Given the description of an element on the screen output the (x, y) to click on. 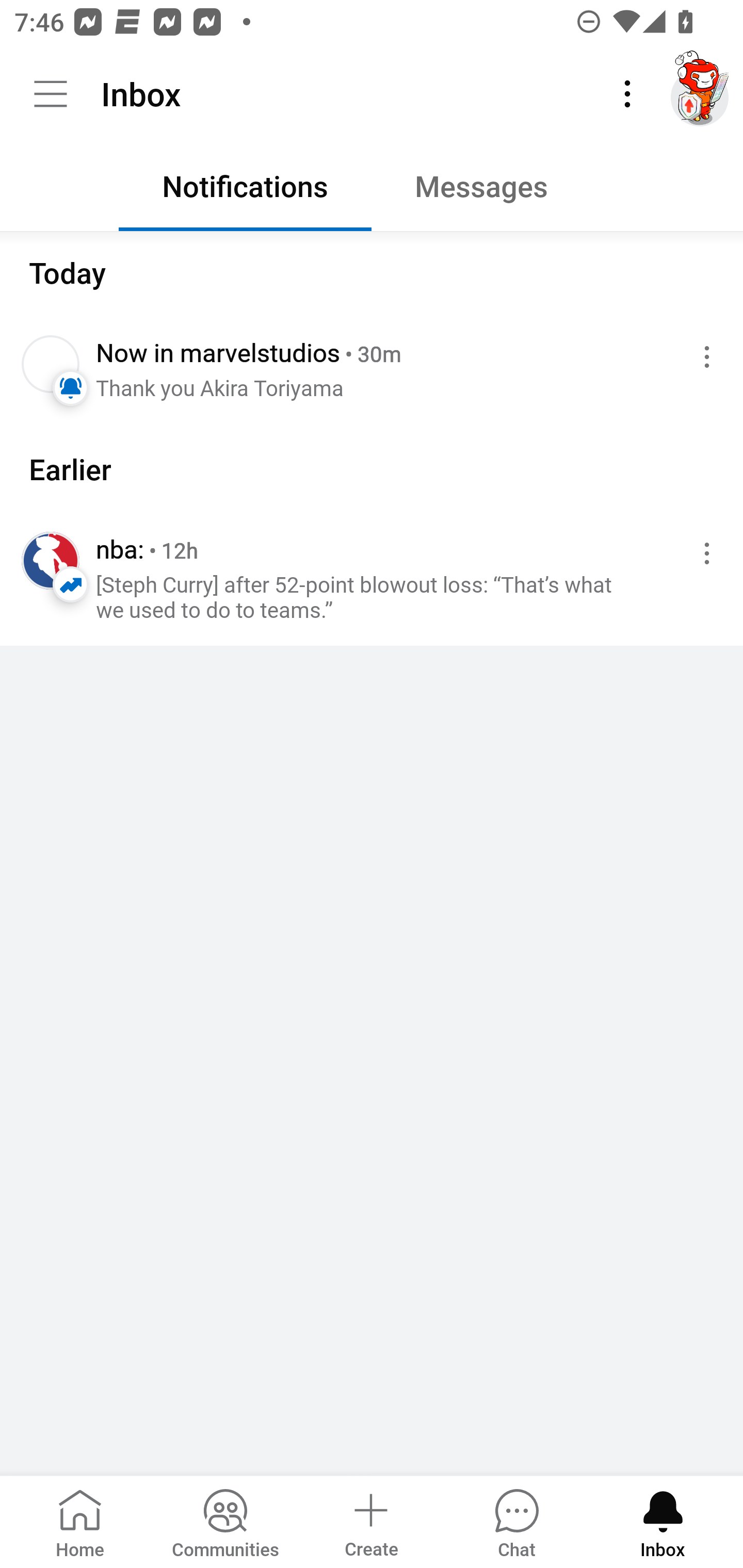
Community menu (50, 93)
More (626, 93)
TestAppium002 account (699, 93)
Messages (497, 191)
More options (703, 356)
More options (703, 553)
Home (80, 1520)
Communities (225, 1520)
Create a post Create (370, 1520)
Chat (516, 1520)
Inbox (662, 1520)
